Given the description of an element on the screen output the (x, y) to click on. 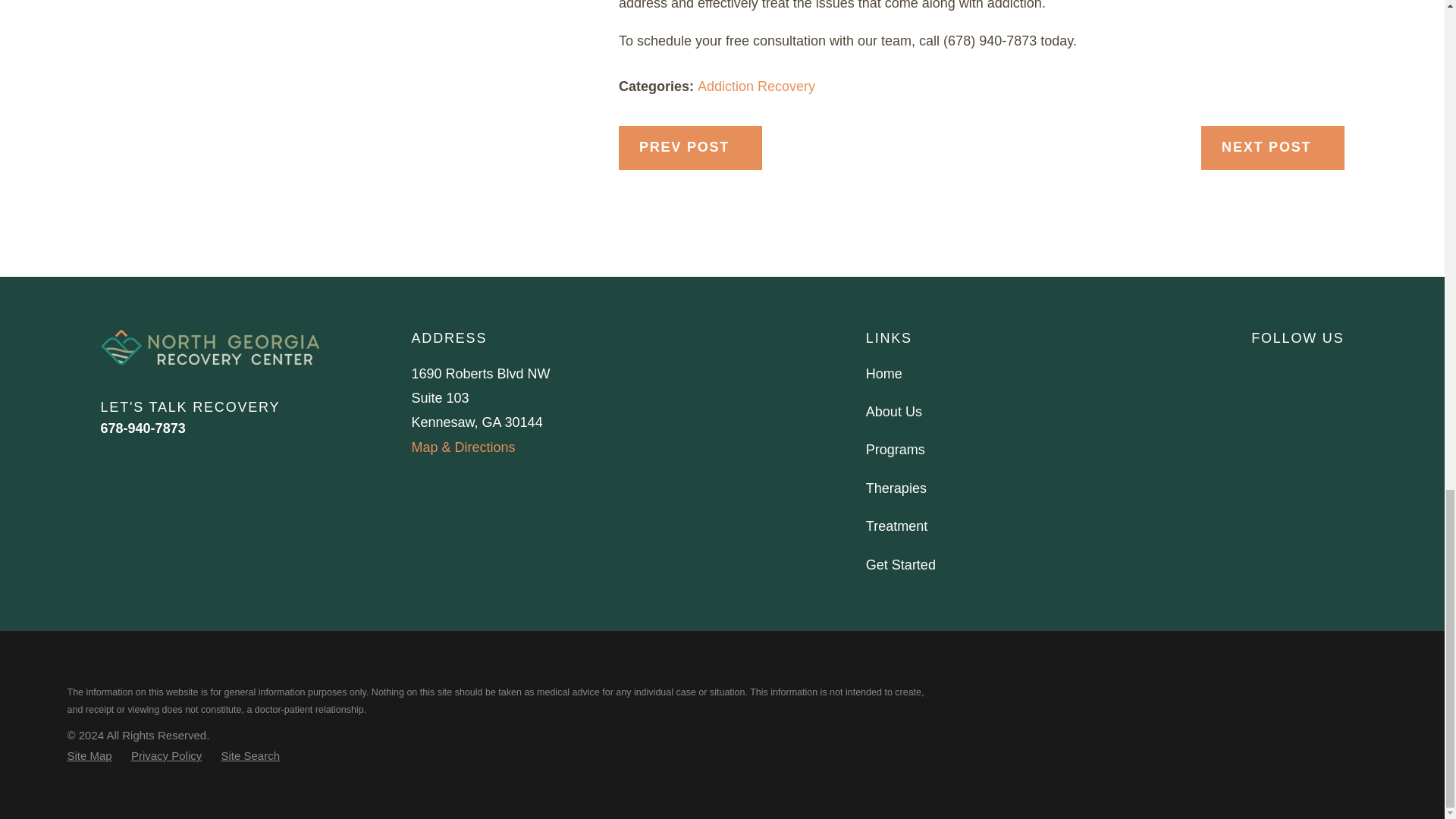
Instagram (1299, 370)
Facebook (1259, 370)
Home (209, 347)
